Given the description of an element on the screen output the (x, y) to click on. 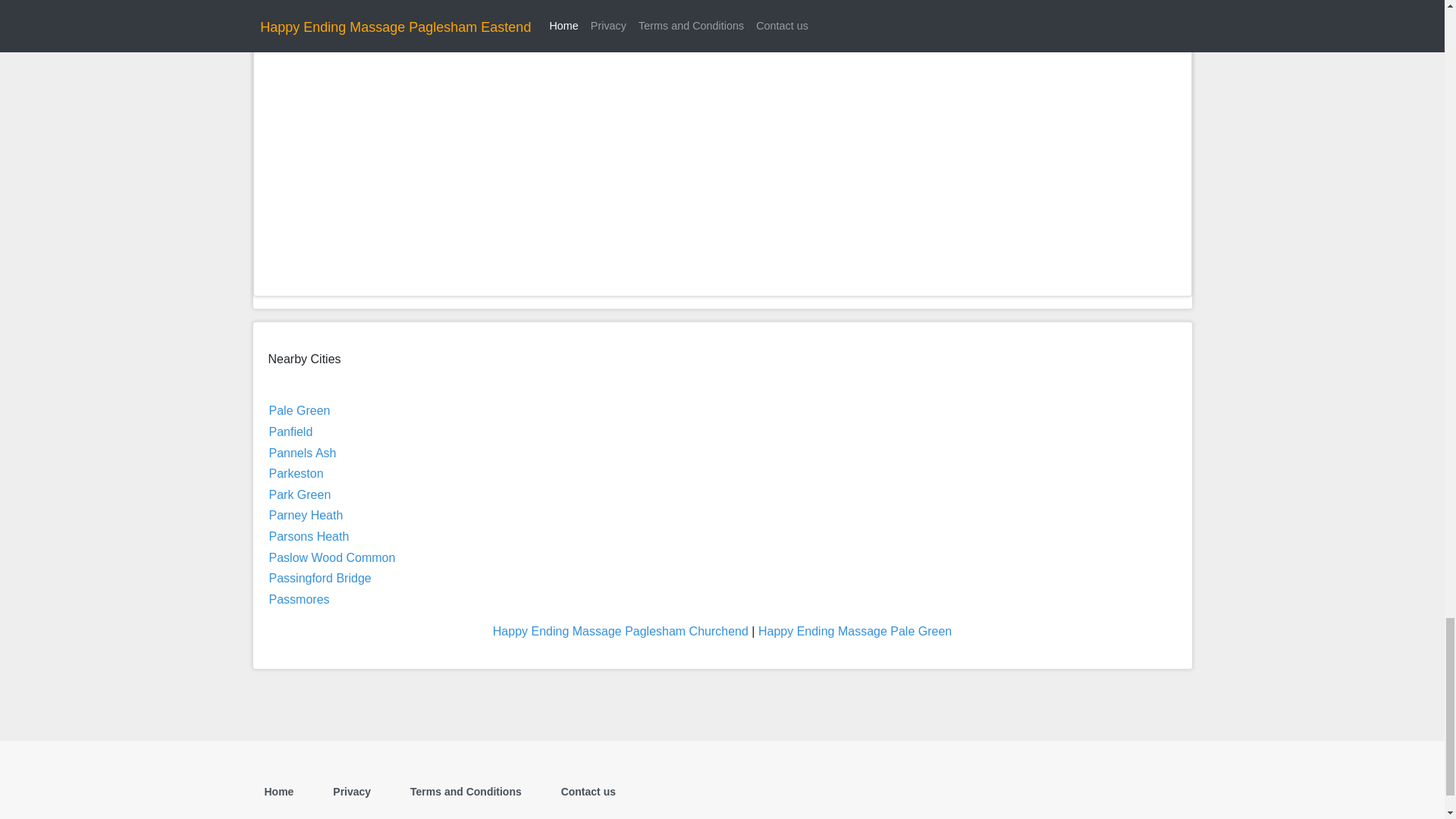
Happy Ending Massage Pale Green (855, 631)
Panfield (290, 431)
Passmores (298, 599)
Parkeston (295, 472)
Paslow Wood Common (330, 557)
Park Green (298, 494)
Pale Green (298, 410)
Parsons Heath (308, 535)
Parney Heath (304, 514)
Pannels Ash (301, 452)
